Given the description of an element on the screen output the (x, y) to click on. 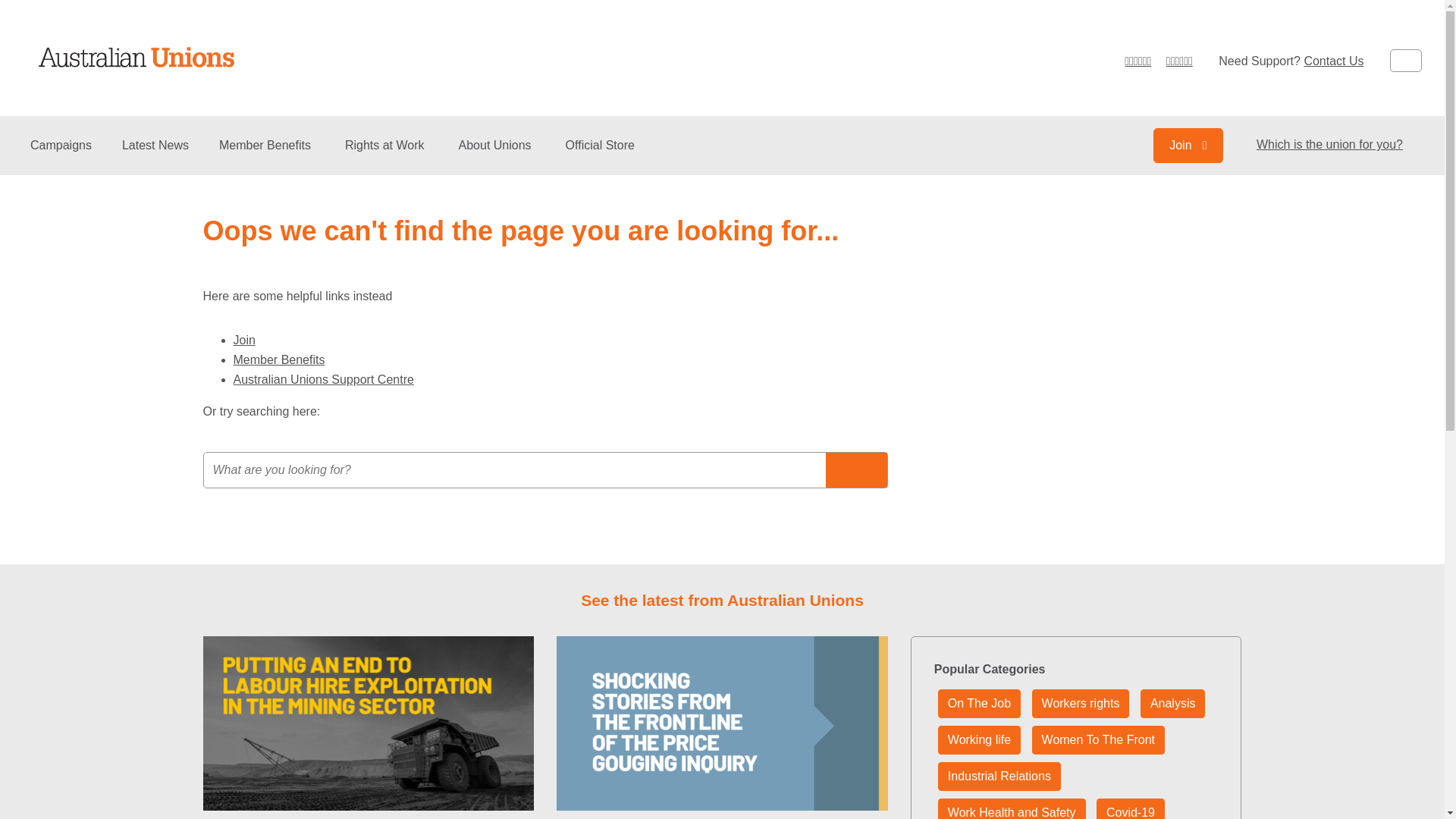
Official Store Element type: text (600, 156)
On The Job Element type: text (979, 703)
Latest News Element type: text (155, 156)
Workers rights Element type: text (1080, 703)
Join Element type: text (244, 339)
Campaigns Element type: text (60, 156)
Analysis Element type: text (1172, 703)
Member Benefits Element type: text (266, 156)
Australian Unions Support Centre Element type: text (323, 379)
Which is the union for you? Element type: text (1329, 144)
Contact Us Element type: text (1333, 60)
Rights at Work Element type: text (386, 156)
Women To The Front Element type: text (1098, 739)
About Unions Element type: text (496, 156)
Member Benefits Element type: text (279, 359)
Join Element type: text (1187, 145)
Industrial Relations Element type: text (999, 776)
Working life Element type: text (979, 739)
